Given the description of an element on the screen output the (x, y) to click on. 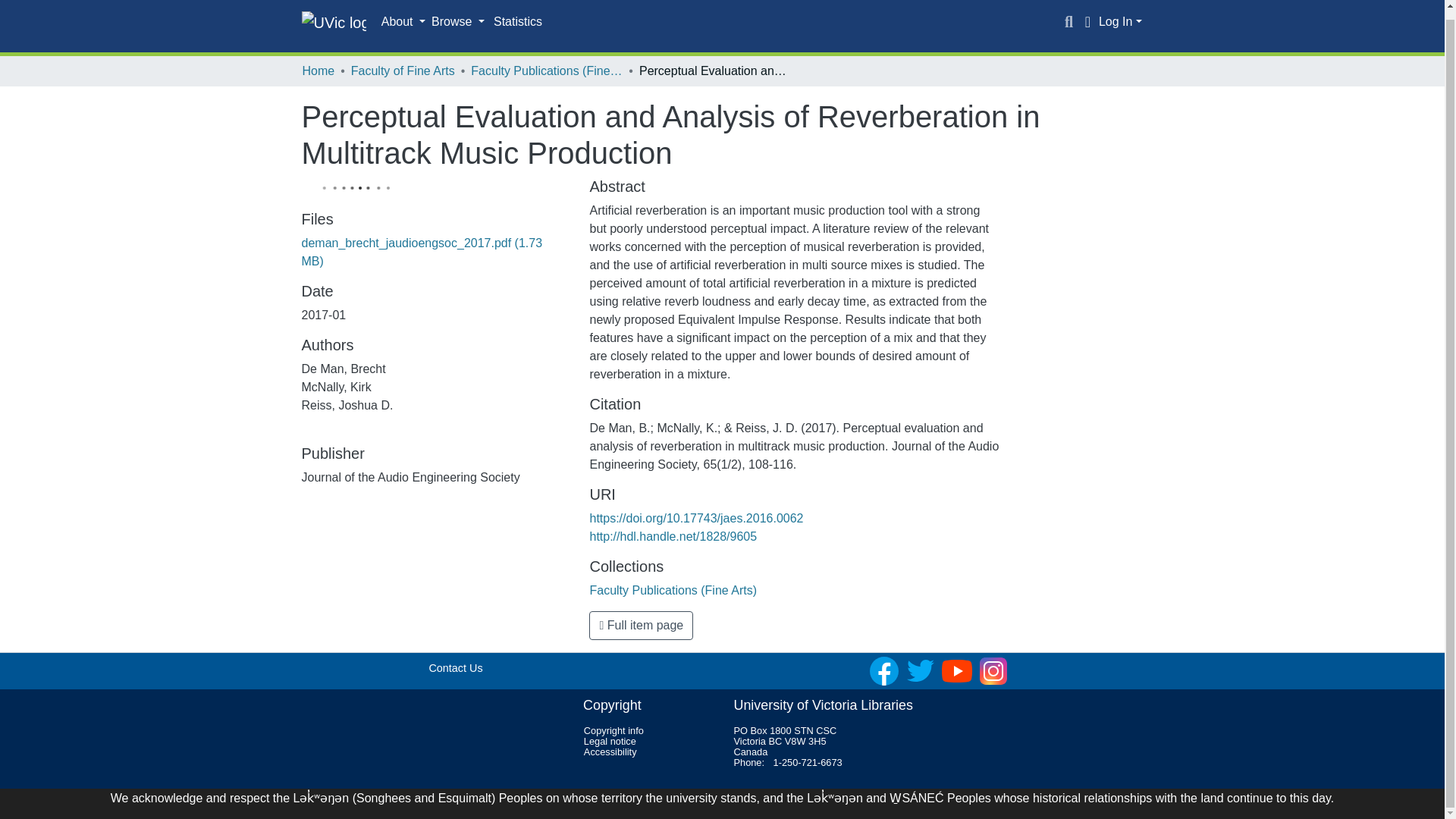
Statistics (517, 21)
Statistics (517, 21)
Search (1068, 22)
Language switch (1087, 22)
Full item page (641, 624)
Faculty of Fine Arts (402, 71)
Contact Us (454, 667)
Browse (457, 22)
Log In (1119, 21)
About (403, 22)
Home (317, 71)
